Given the description of an element on the screen output the (x, y) to click on. 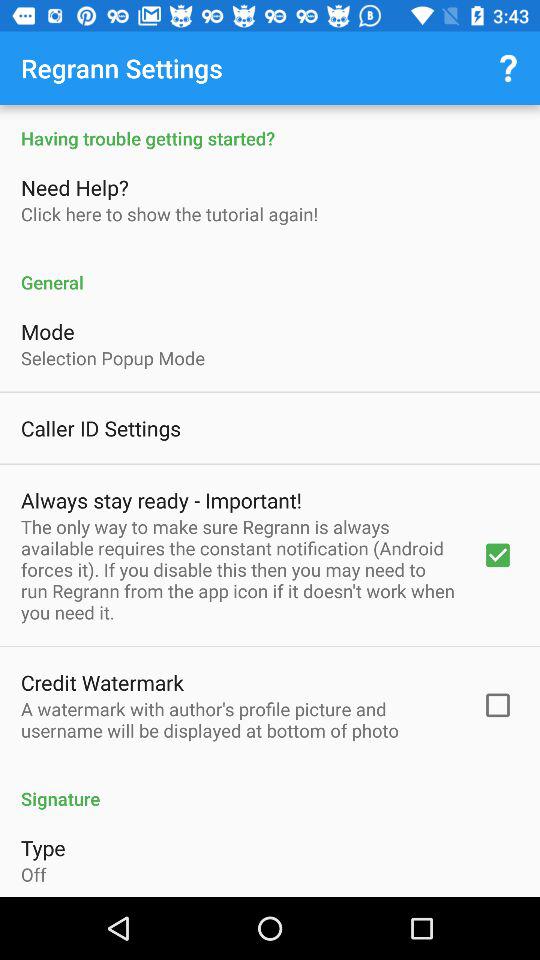
settings menu (270, 501)
